Given the description of an element on the screen output the (x, y) to click on. 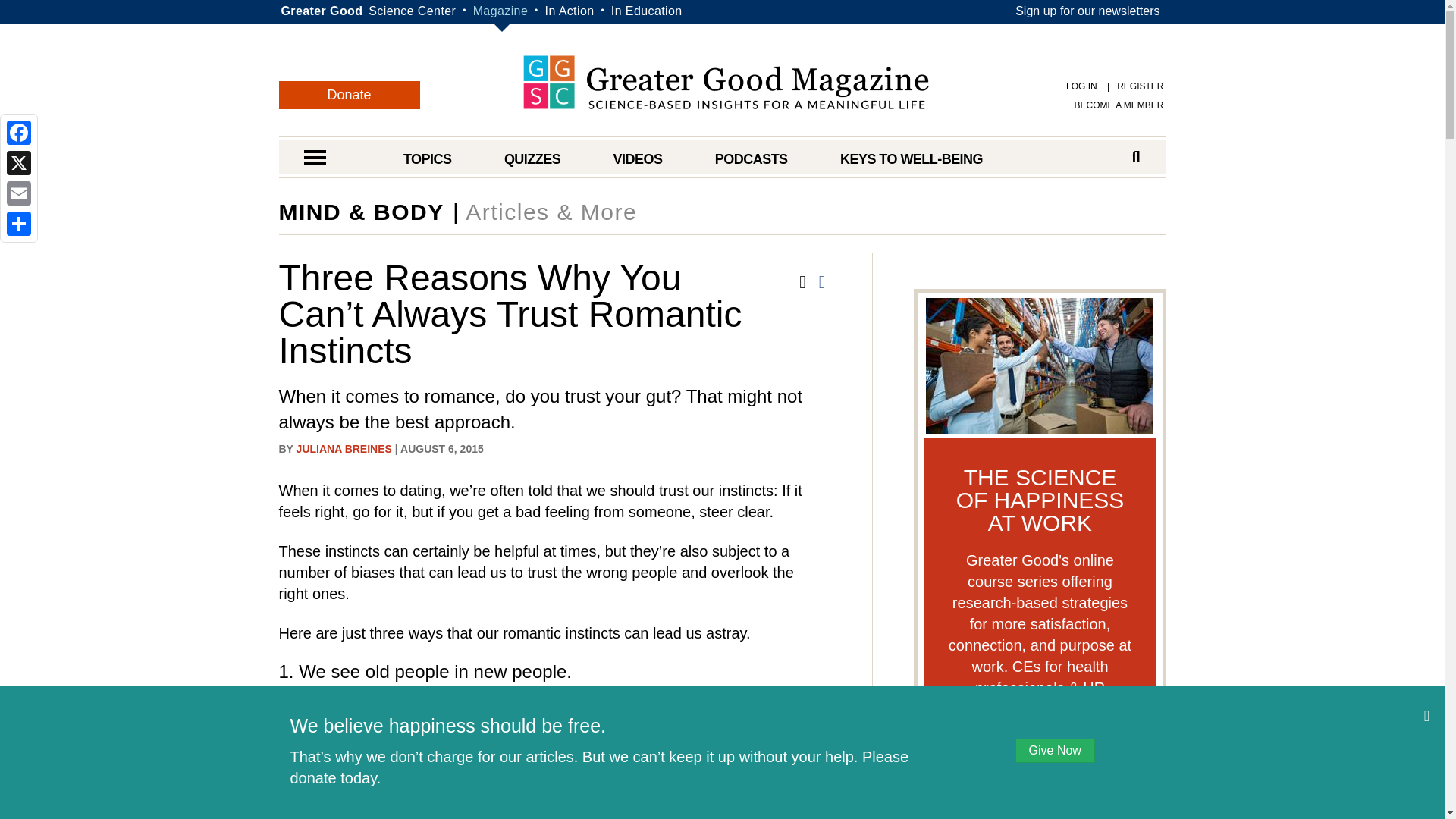
In Education (646, 10)
Magazine (500, 10)
Sign up for our newsletters (1086, 11)
Science Center (411, 10)
TOPICS (427, 158)
Greater Good Magazine (725, 81)
The Science of Happiness at Work (1039, 768)
The Science of Happiness at Work (1039, 364)
BECOME A MEMBER (1118, 104)
VIDEOS (637, 158)
